Given the description of an element on the screen output the (x, y) to click on. 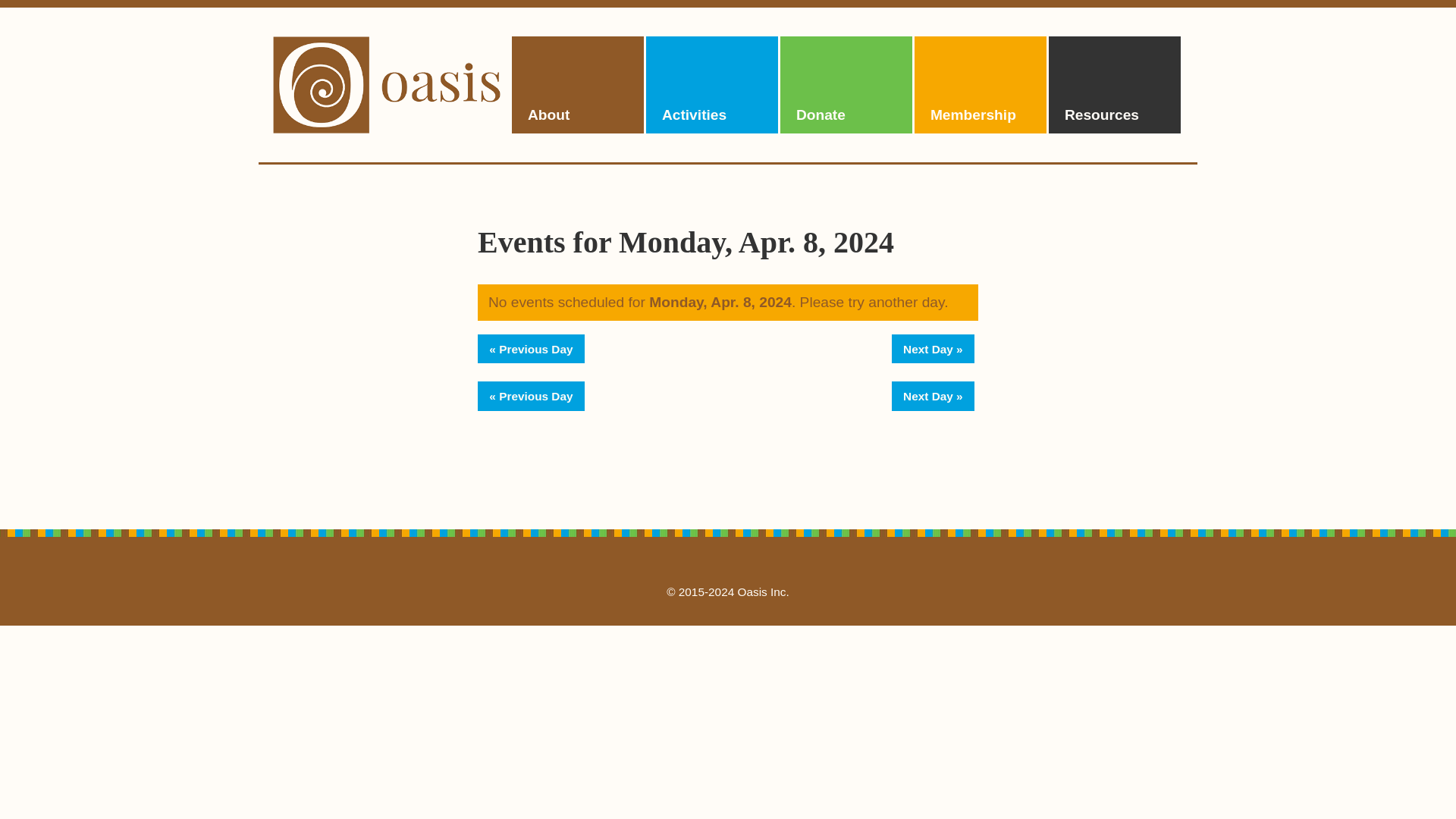
Activities (711, 84)
Membership (980, 84)
Donate (846, 84)
About (577, 84)
Resources (1114, 84)
